Given the description of an element on the screen output the (x, y) to click on. 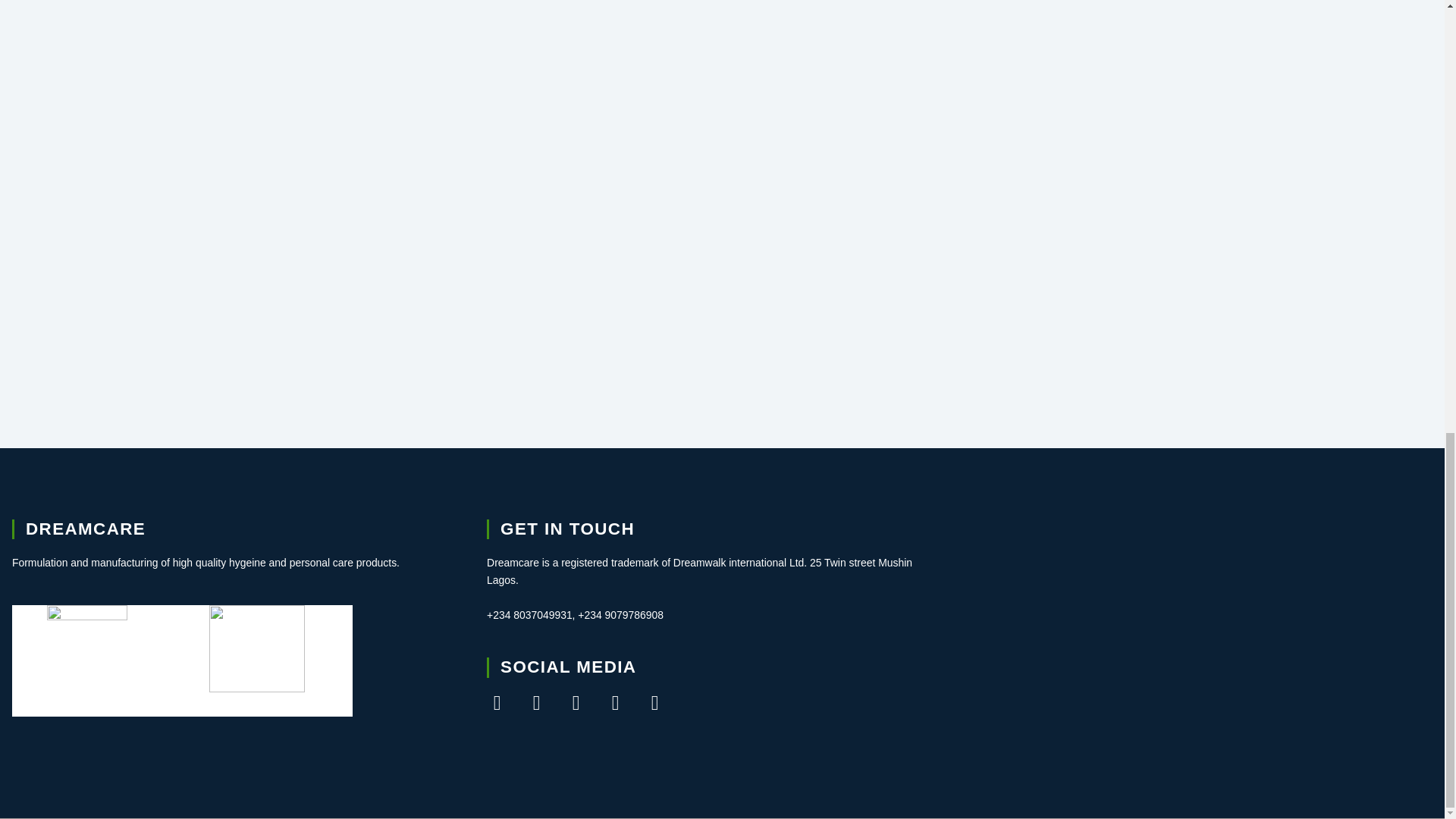
Twitter (536, 702)
25 Twin street Mushin Lagos (1197, 632)
Facebook-f (496, 702)
Google-plus-g (576, 702)
Linkedin-in (655, 702)
Youtube (615, 702)
